Given the description of an element on the screen output the (x, y) to click on. 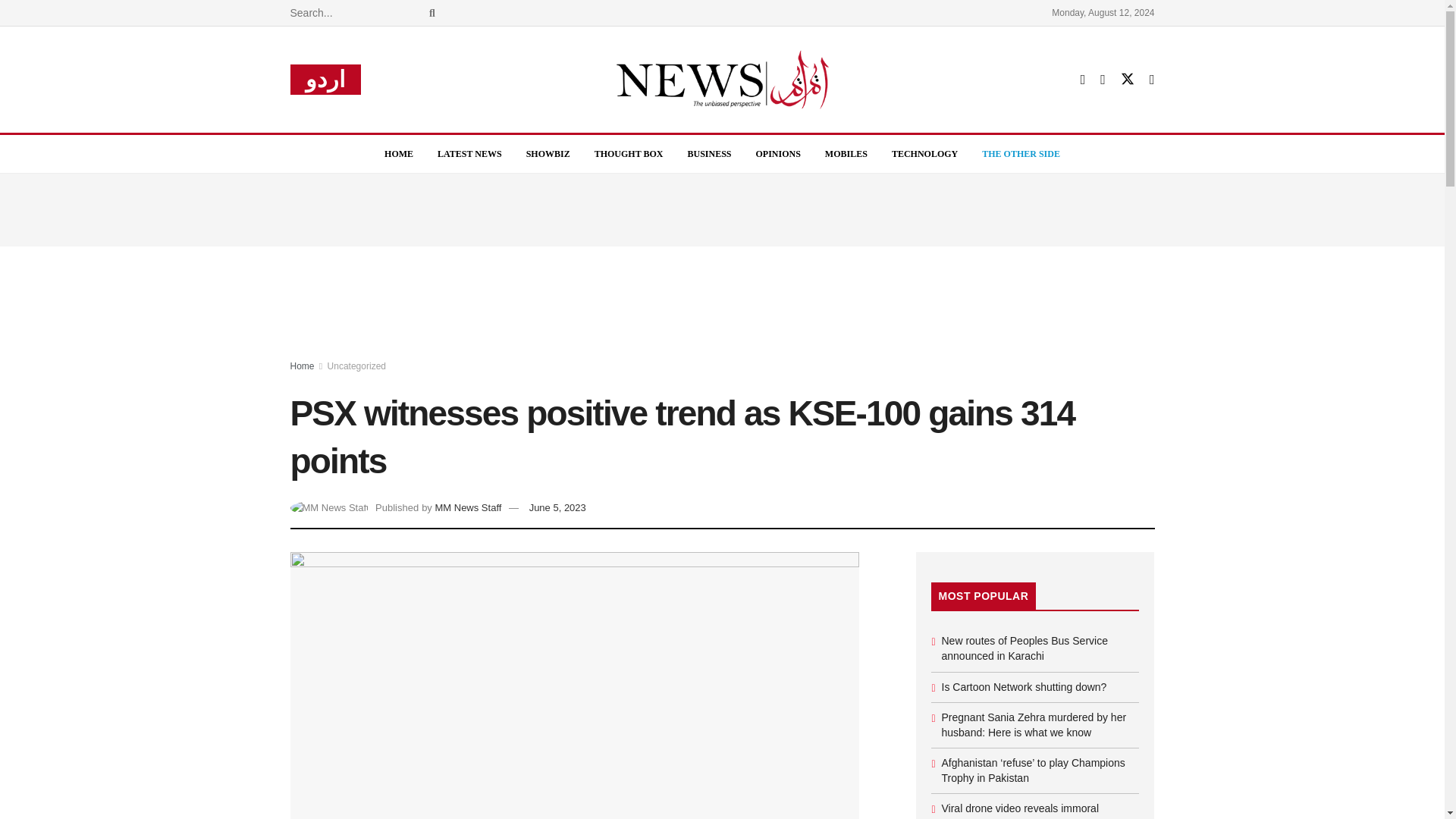
SHOWBIZ (547, 153)
OPINIONS (778, 153)
MOBILES (845, 153)
BUSINESS (708, 153)
TECHNOLOGY (924, 153)
THE OTHER SIDE (1020, 153)
HOME (398, 153)
THOUGHT BOX (628, 153)
LATEST NEWS (469, 153)
